Given the description of an element on the screen output the (x, y) to click on. 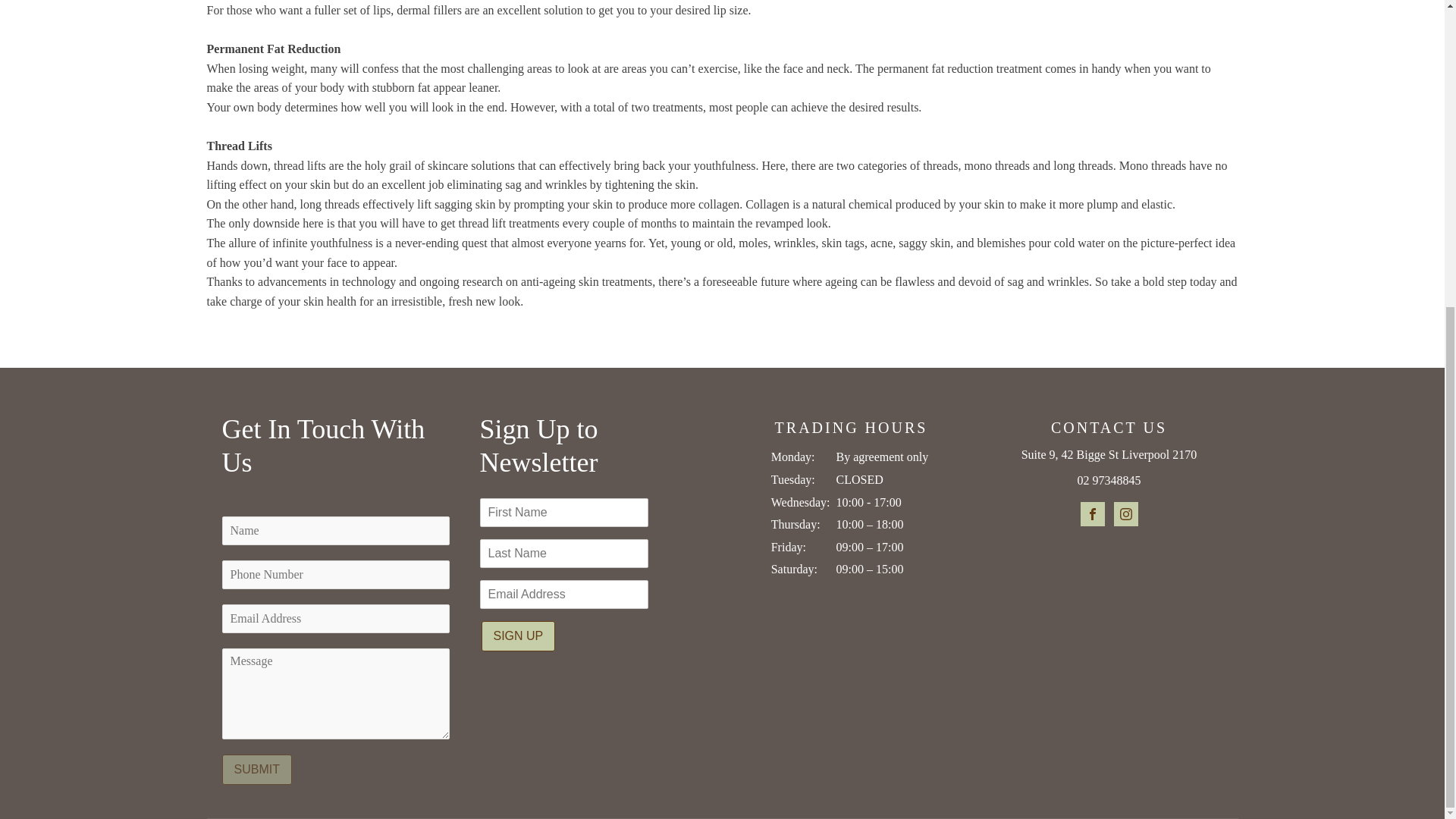
Sign up (517, 635)
Sign up (517, 635)
SUBMIT (256, 769)
02 97348845 (1108, 480)
